Given the description of an element on the screen output the (x, y) to click on. 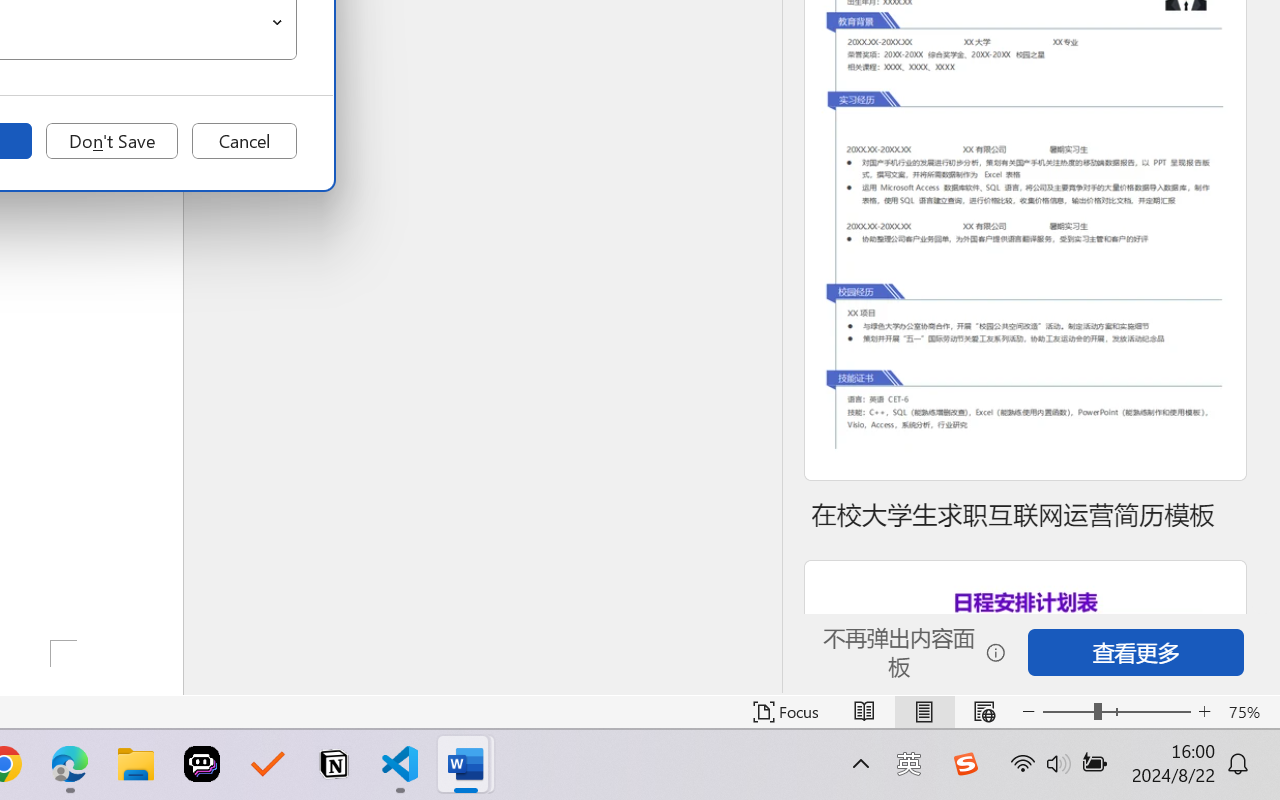
Zoom In (1204, 712)
Zoom Out (1067, 712)
Notion (333, 764)
Web Layout (984, 712)
Zoom (1116, 712)
Focus  (786, 712)
